Given the description of an element on the screen output the (x, y) to click on. 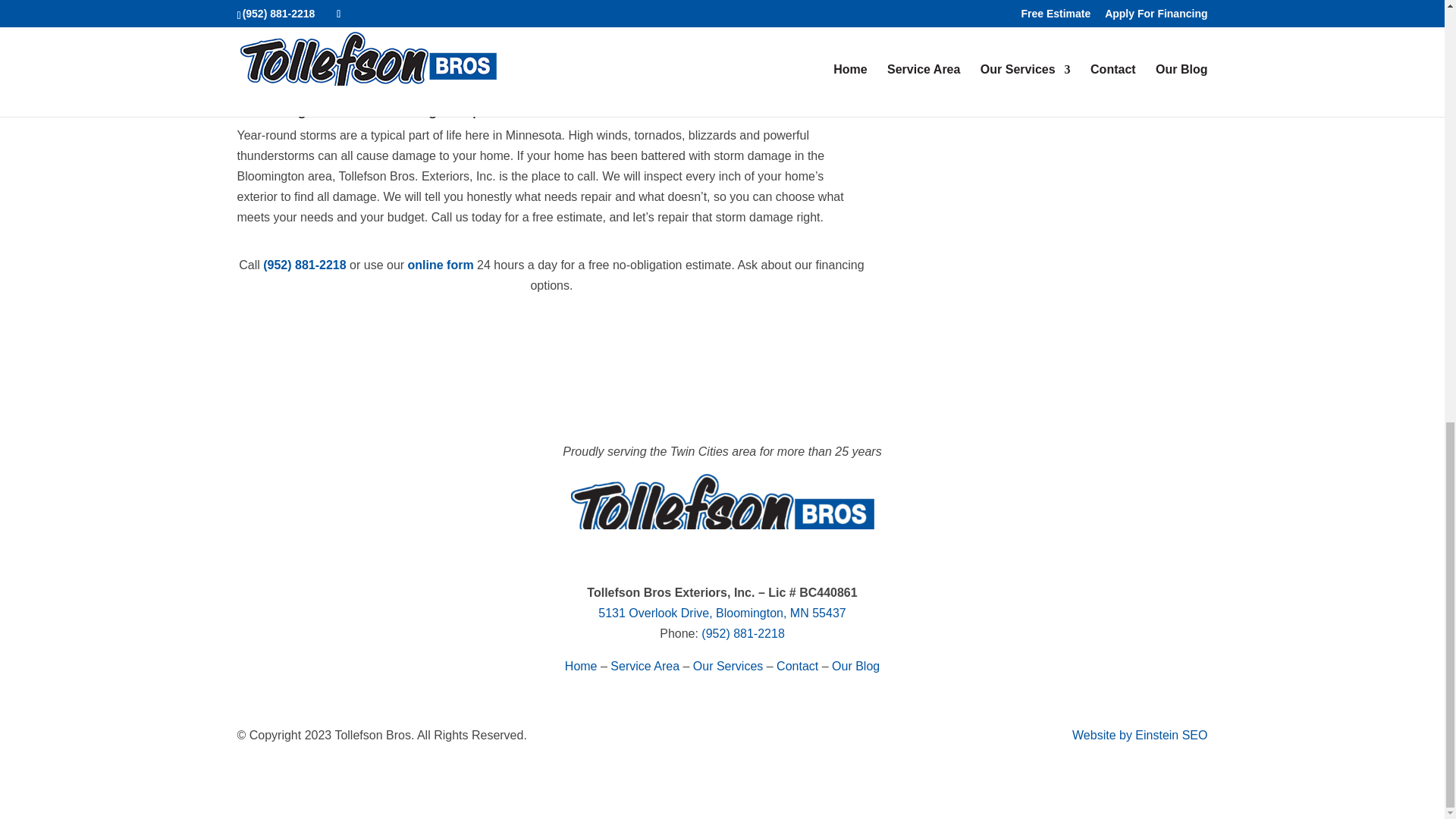
online form (440, 264)
Website by Einstein SEO (1139, 735)
Home (580, 666)
5131 Overlook Drive, Bloomington, MN 55437 (721, 612)
Service Area (644, 666)
Contact (797, 666)
Our Services (727, 666)
Our Blog (855, 666)
